Given the description of an element on the screen output the (x, y) to click on. 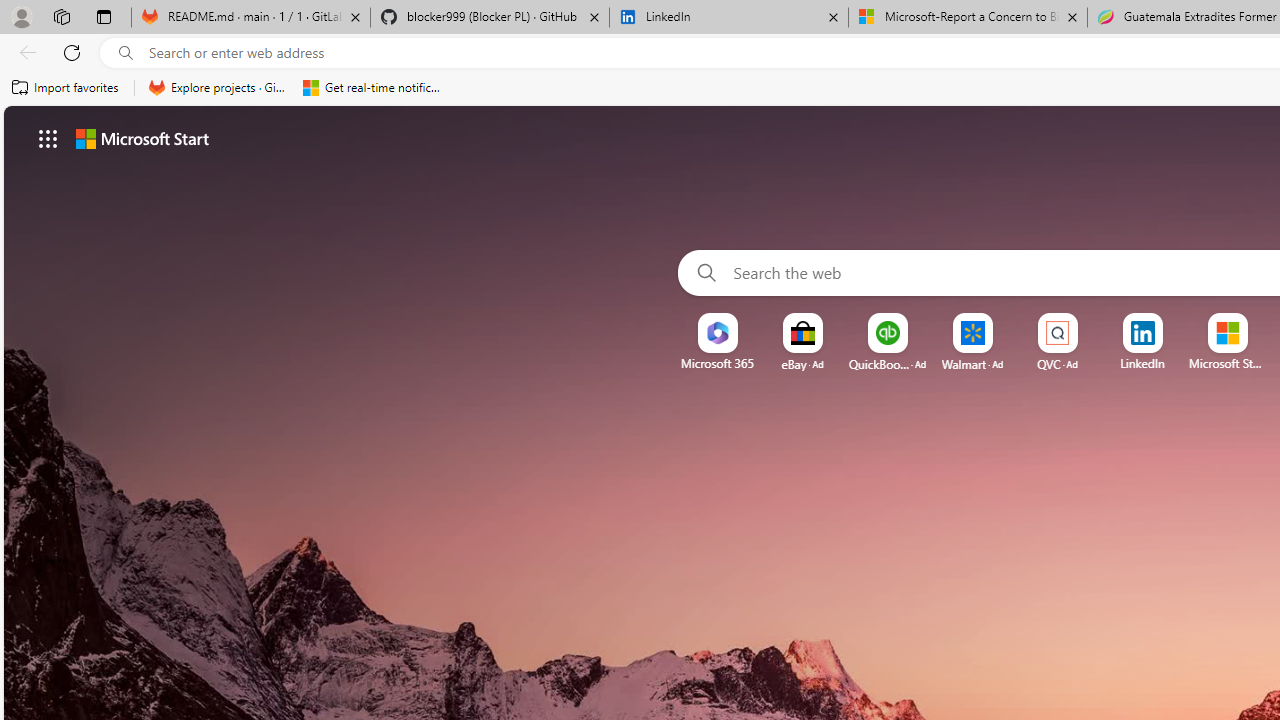
Search icon (125, 53)
More Options (1260, 320)
Microsoft start (142, 138)
